Given the description of an element on the screen output the (x, y) to click on. 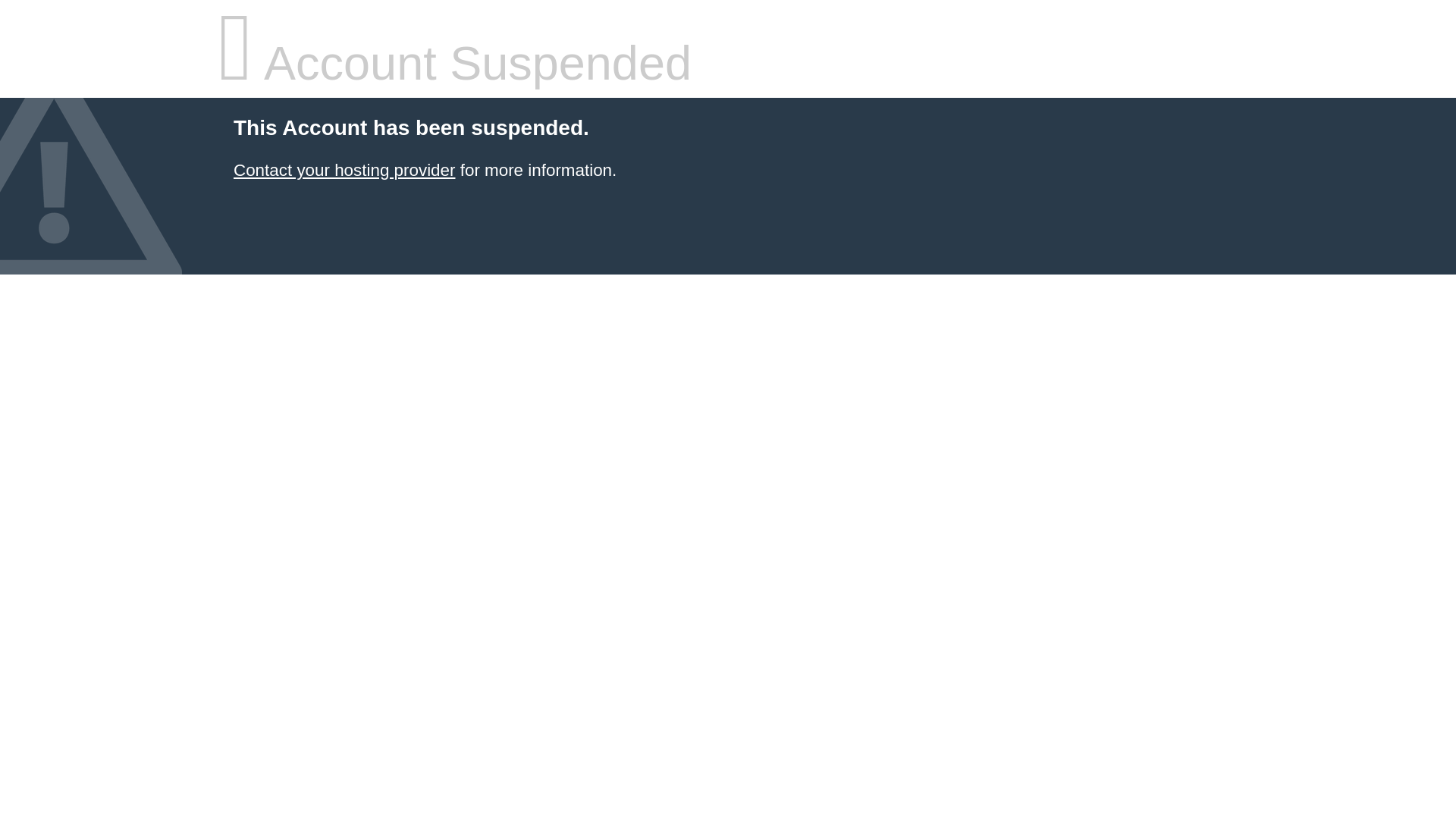
Contact your hosting provider (343, 169)
